Given the description of an element on the screen output the (x, y) to click on. 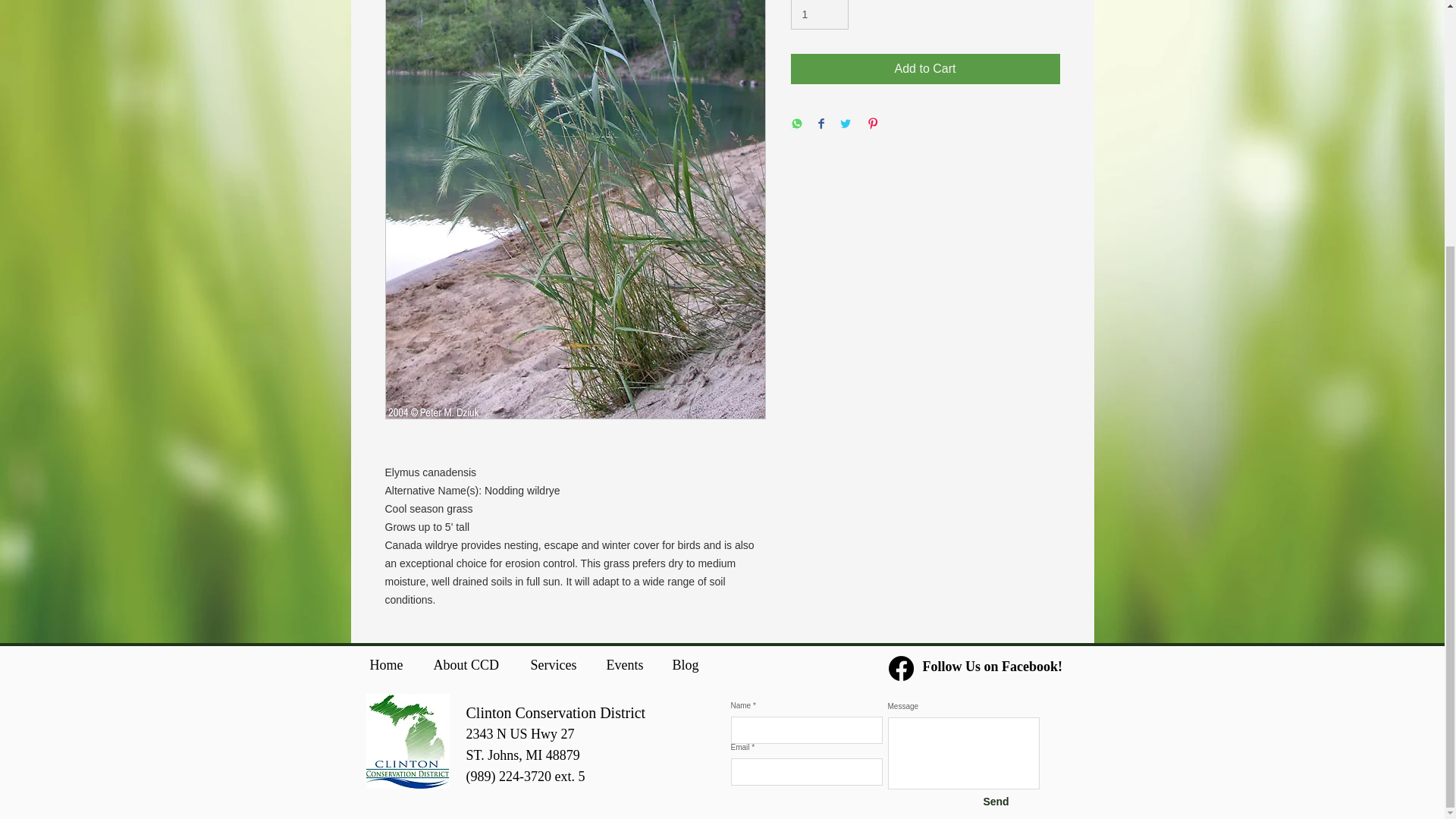
Blog (687, 662)
Add to Cart (924, 69)
1 (818, 14)
Send (996, 801)
Home (390, 662)
About CCD (470, 662)
Services (556, 662)
Events (627, 662)
